Given the description of an element on the screen output the (x, y) to click on. 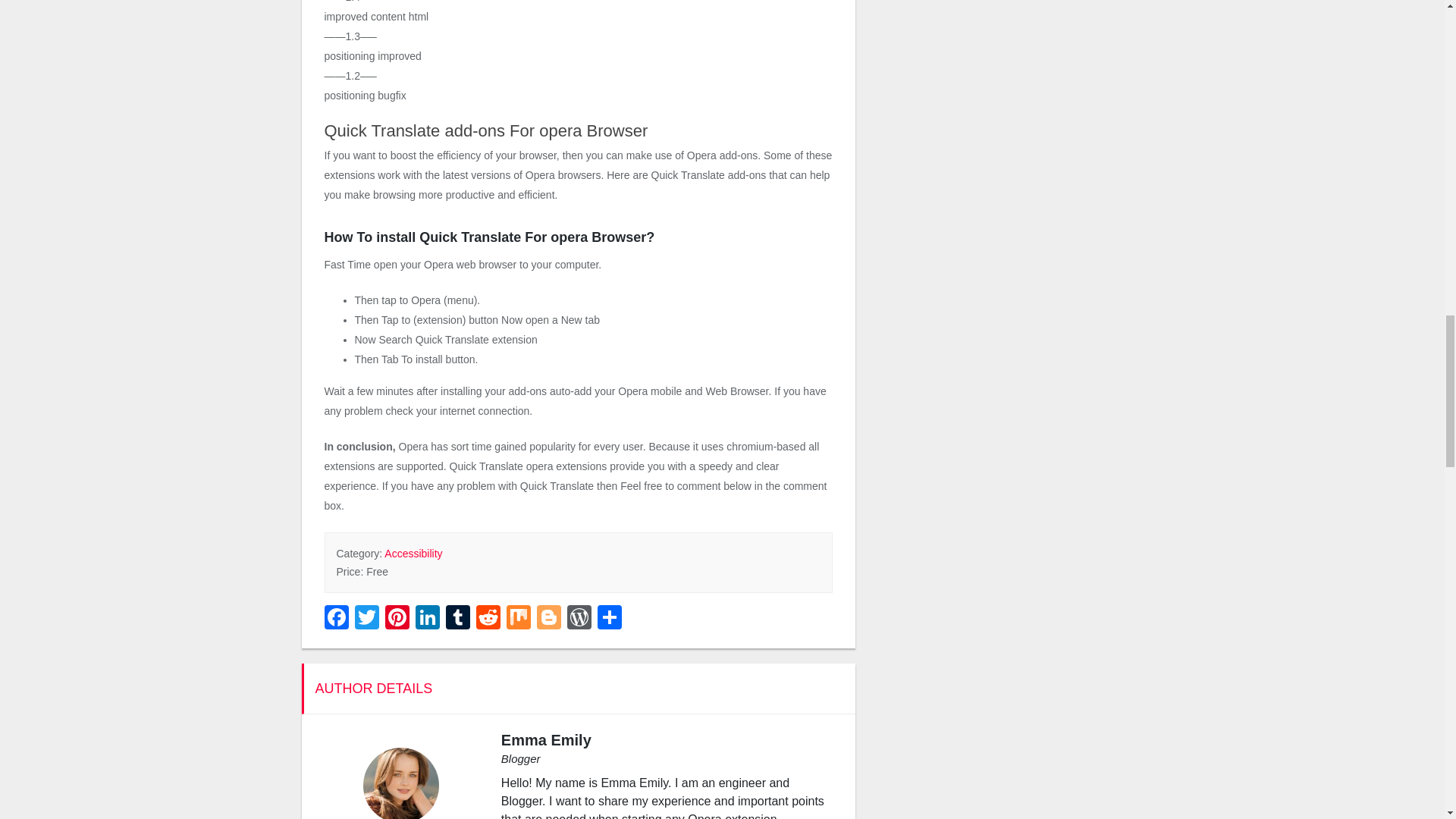
LinkedIn (427, 619)
Reddit (488, 619)
Mix (518, 619)
Reddit (488, 619)
Twitter (366, 619)
Facebook (338, 619)
Facebook (338, 619)
Accessibility (413, 553)
Tumblr (457, 619)
Twitter (366, 619)
